Given the description of an element on the screen output the (x, y) to click on. 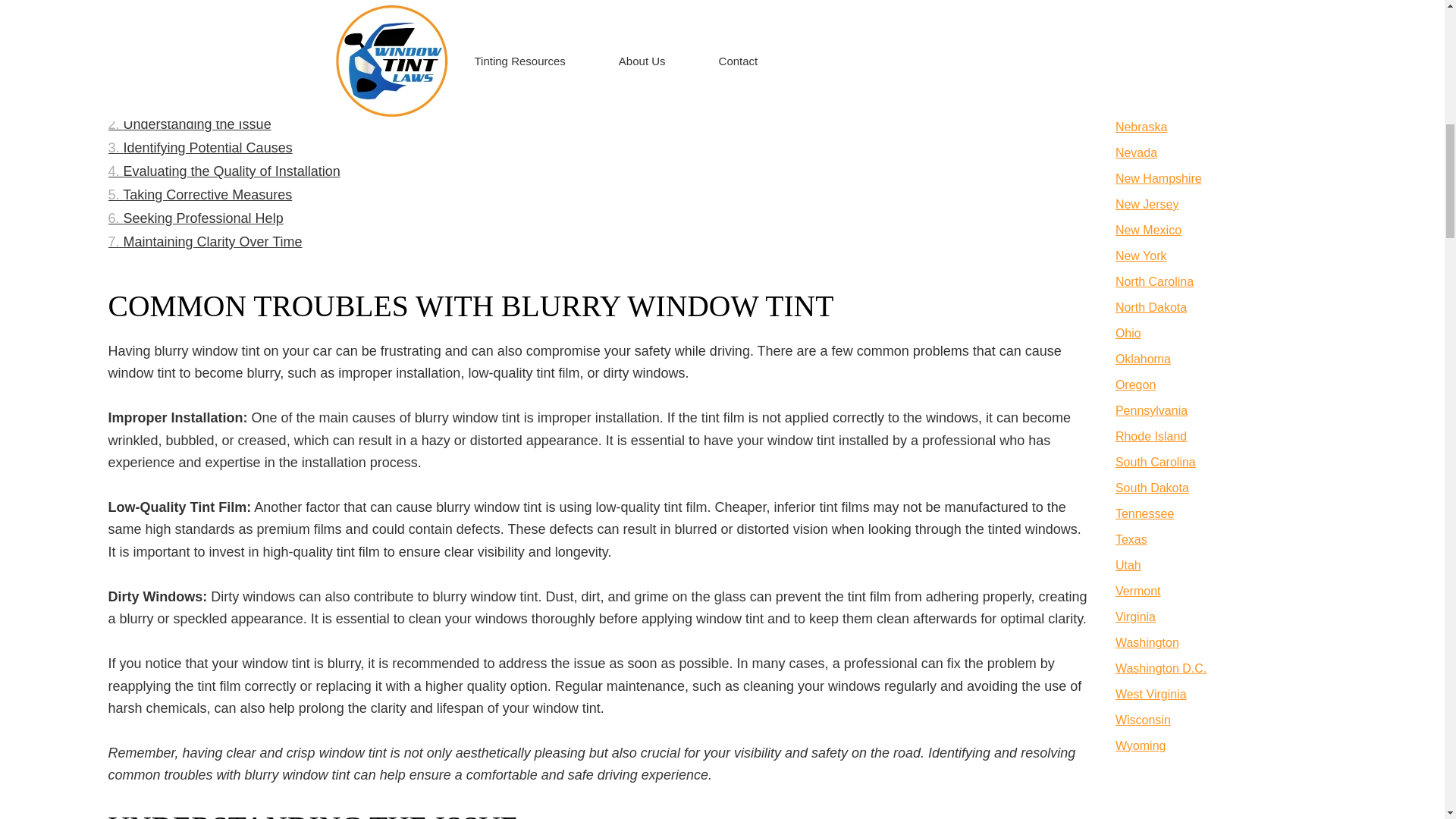
Identifying Potential Causes (199, 148)
Identifying Potential Causes (199, 148)
Common Troubles With Blurry Window Tint (244, 100)
Evaluating the Quality of Installation (223, 171)
Michigan (1139, 2)
Understanding the Issue (188, 124)
Seeking Professional Help (194, 218)
Understanding the Issue (188, 124)
Maintaining Clarity Over Time (204, 242)
Taking Corrective Measures (199, 195)
